Given the description of an element on the screen output the (x, y) to click on. 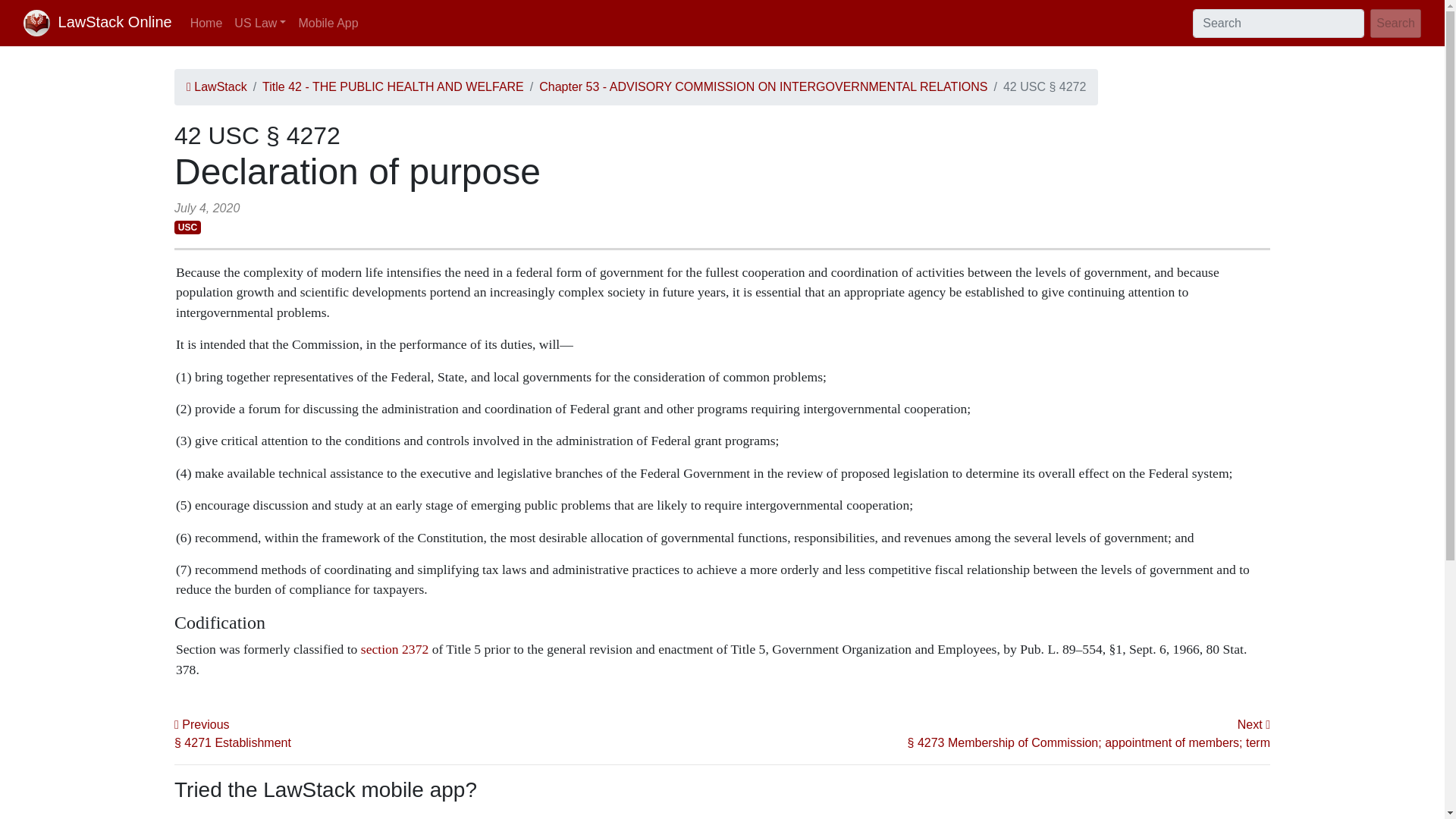
Home (206, 22)
Search (1395, 23)
LawStack (216, 86)
LawStack Online (97, 22)
section 2372 (394, 648)
Title 42 - THE PUBLIC HEALTH AND WELFARE (393, 86)
US Law (260, 22)
Search (1395, 23)
Mobile App (328, 22)
